Given the description of an element on the screen output the (x, y) to click on. 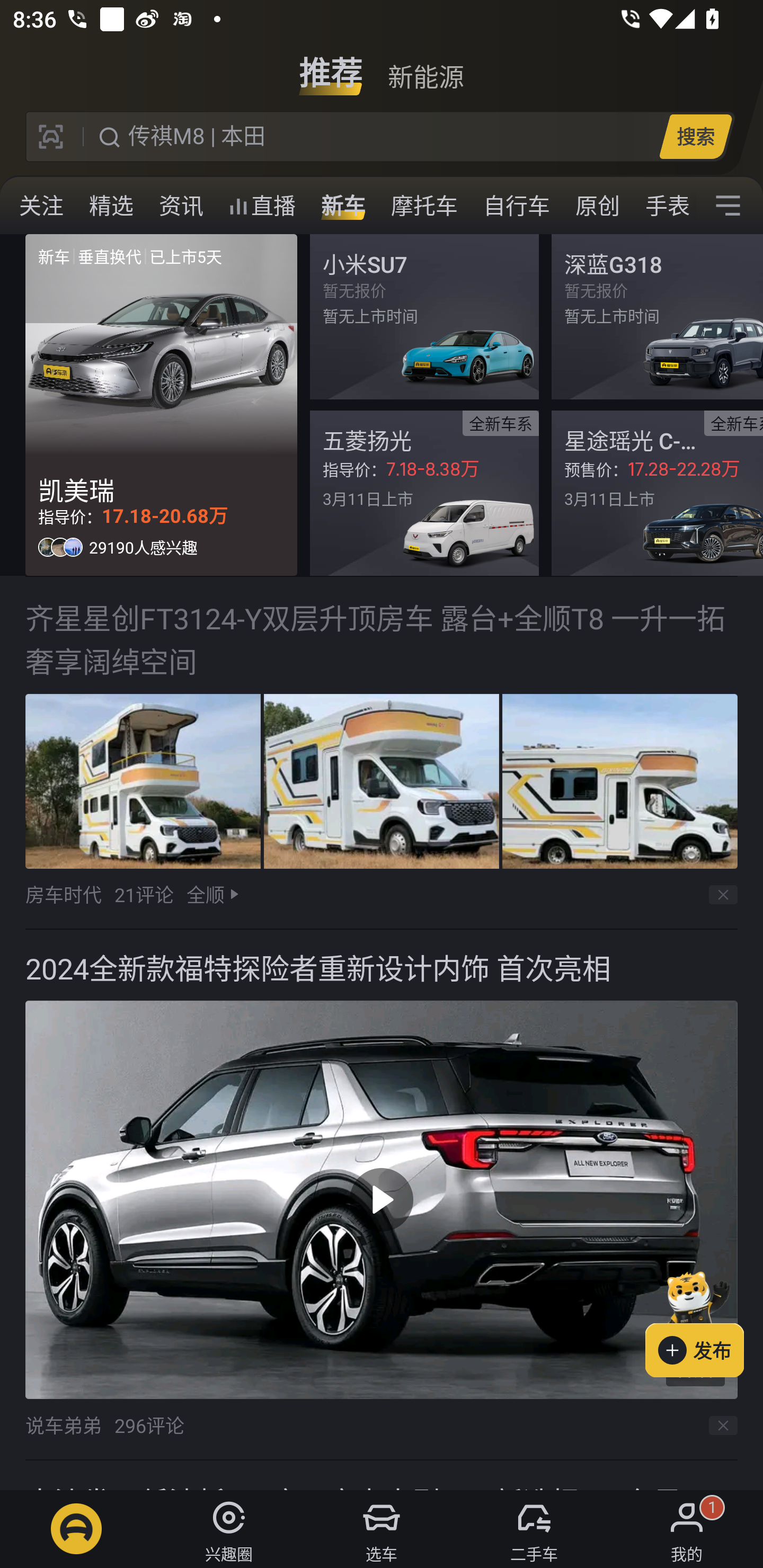
推荐 (330, 65)
新能源 (425, 65)
搜索 (695, 136)
关注 (41, 205)
精选 (111, 205)
资讯 (180, 205)
直播 (261, 205)
新车 (343, 205)
摩托车 (424, 205)
自行车 (516, 205)
原创 (597, 205)
手表 (663, 205)
 (727, 205)
暂无报价 (423, 316)
暂无报价 (657, 316)
全新车系指导价：7.18-8.38万 (423, 492)
全新车系预售价：17.28-22.28万 (657, 492)
齐星星创FT3124-Y双层升顶房车 露台+全顺T8 一升一拓奢享阔绰空间 房车时代 21评论 全顺 (381, 753)
全顺 (205, 894)
2024全新款福特探险者重新设计内饰 首次亮相  05:50 说车弟弟 296评论 (381, 1194)
发布 (704, 1320)
 兴趣圈 (228, 1528)
 选车 (381, 1528)
 二手车 (533, 1528)
 我的 (686, 1528)
